Given the description of an element on the screen output the (x, y) to click on. 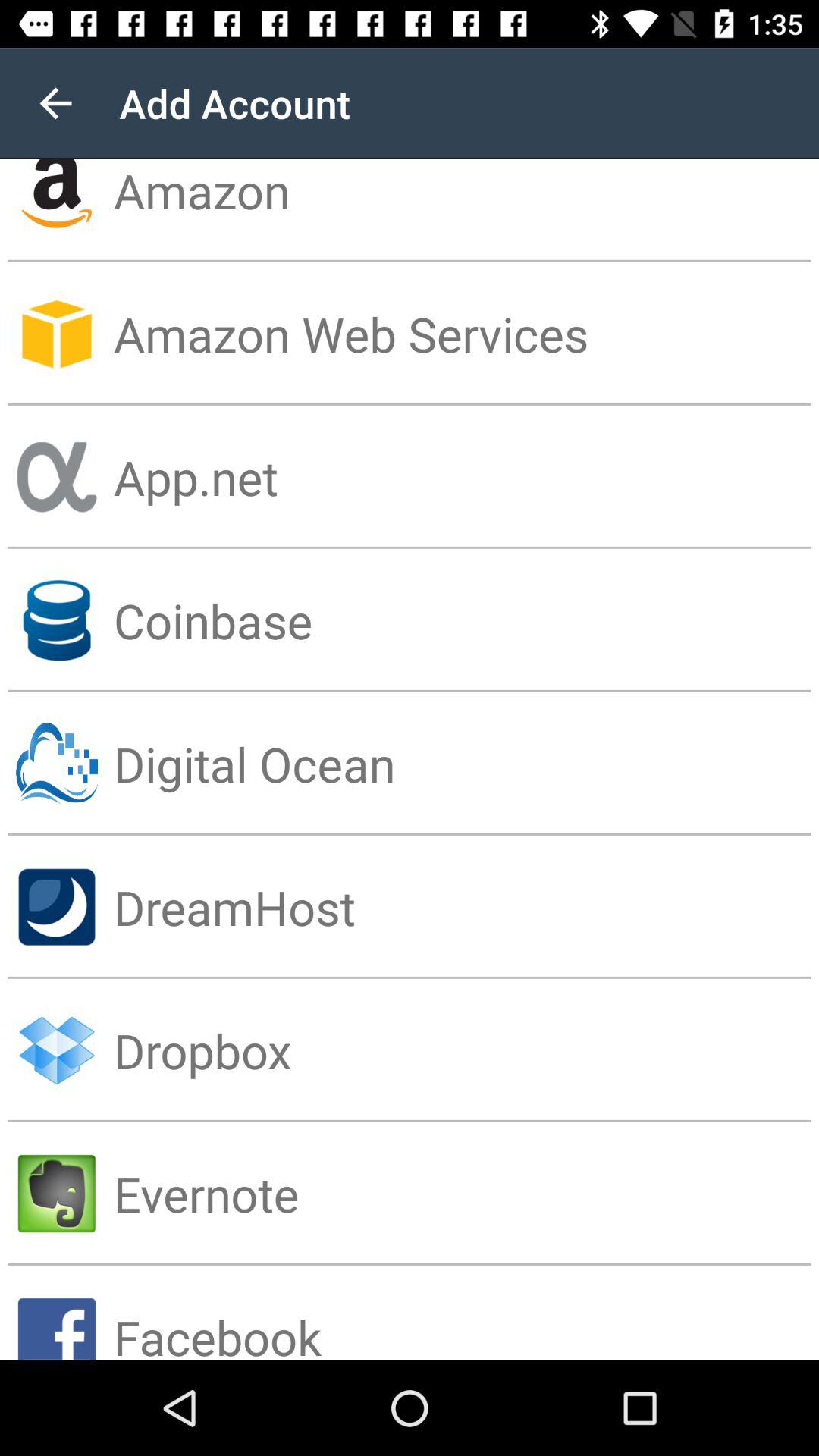
click app above app.net (466, 333)
